Given the description of an element on the screen output the (x, y) to click on. 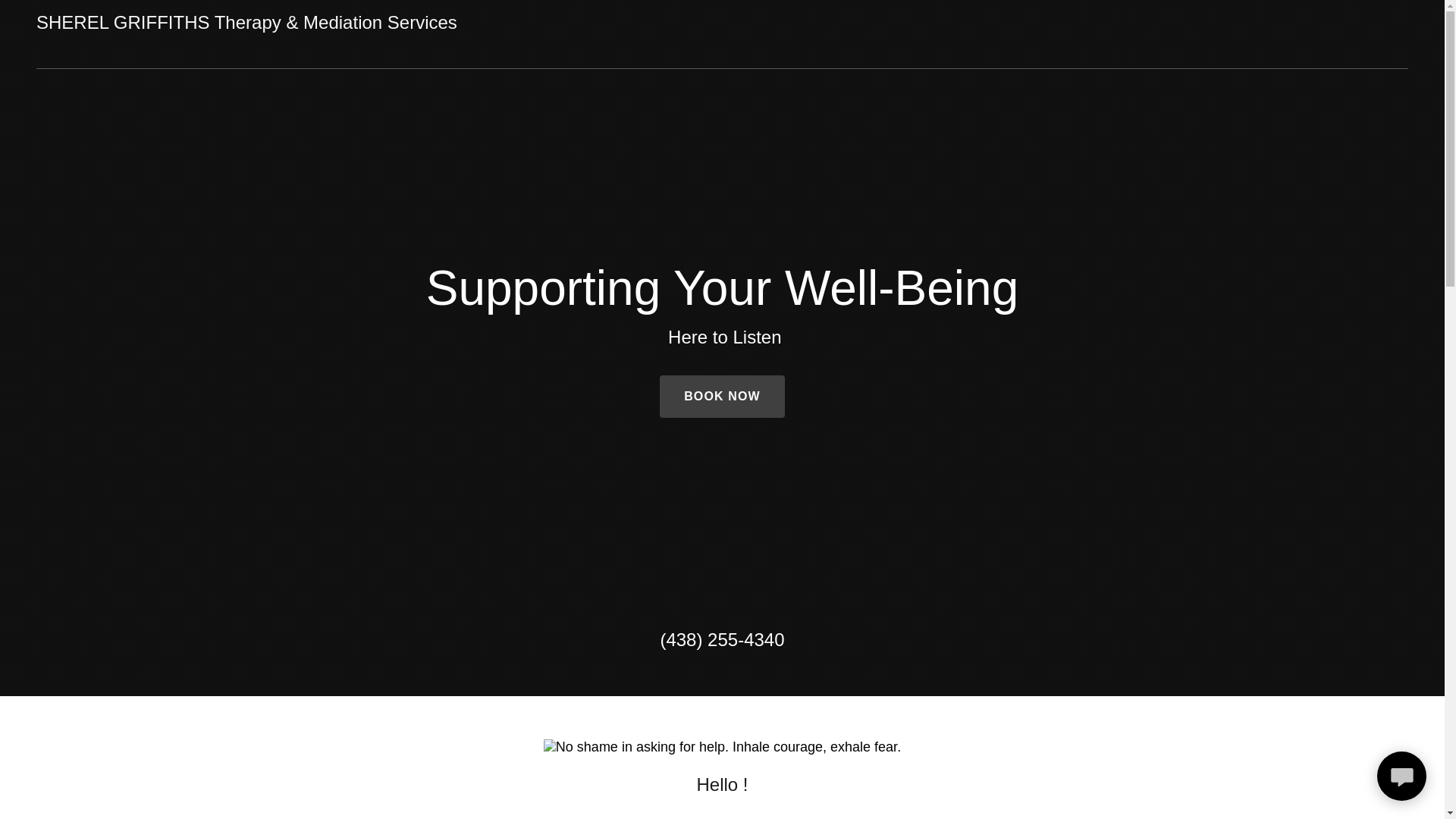
BOOK NOW (721, 396)
